Given the description of an element on the screen output the (x, y) to click on. 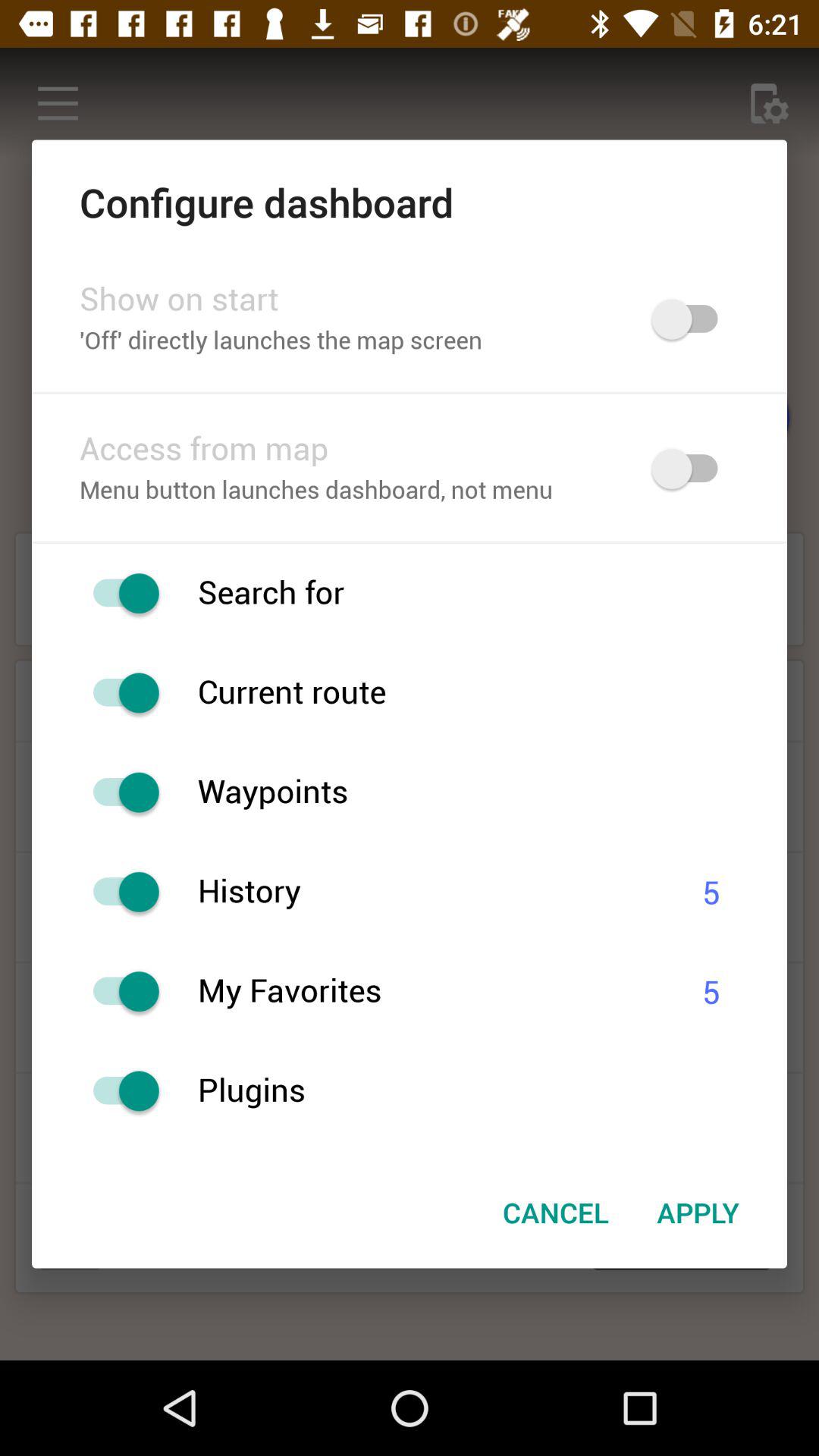
turn on the item below configure dashboard (346, 299)
